Given the description of an element on the screen output the (x, y) to click on. 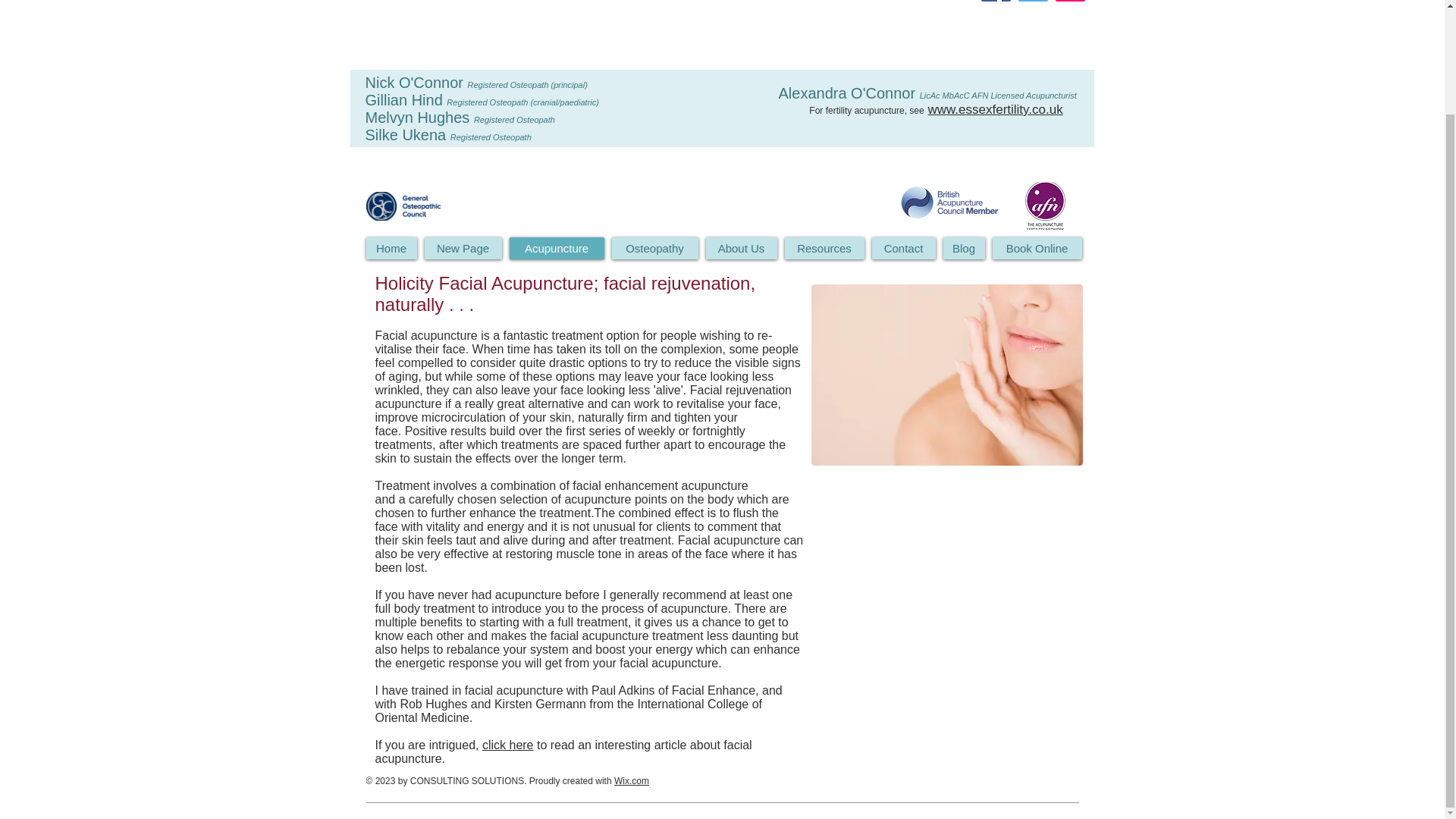
New Page (463, 248)
click here (507, 744)
Home (390, 248)
Wix.com (631, 780)
Acupuncture (556, 248)
www.essexfertility.co.uk (994, 109)
Osteopathy (654, 248)
Blog (964, 248)
Woman with Hand on Face (946, 374)
Resources (823, 248)
About Us (740, 248)
Book Online (1036, 248)
Contact (904, 248)
